Given the description of an element on the screen output the (x, y) to click on. 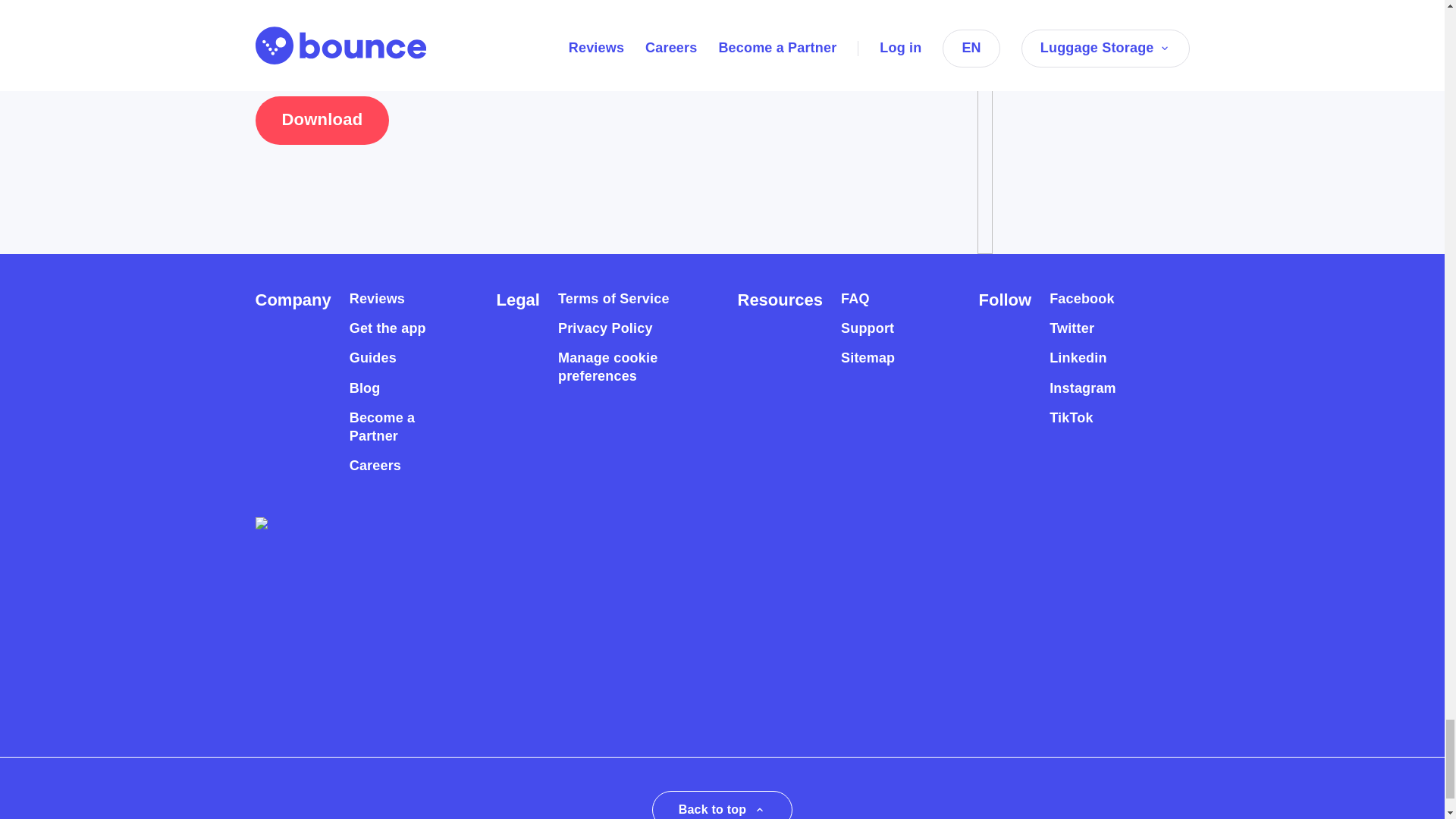
Get the app (387, 328)
Become a Partner (395, 427)
Terms of Service (613, 298)
Guides (372, 357)
Download (321, 120)
Reviews (376, 298)
Blog (364, 388)
Careers (375, 466)
